Given the description of an element on the screen output the (x, y) to click on. 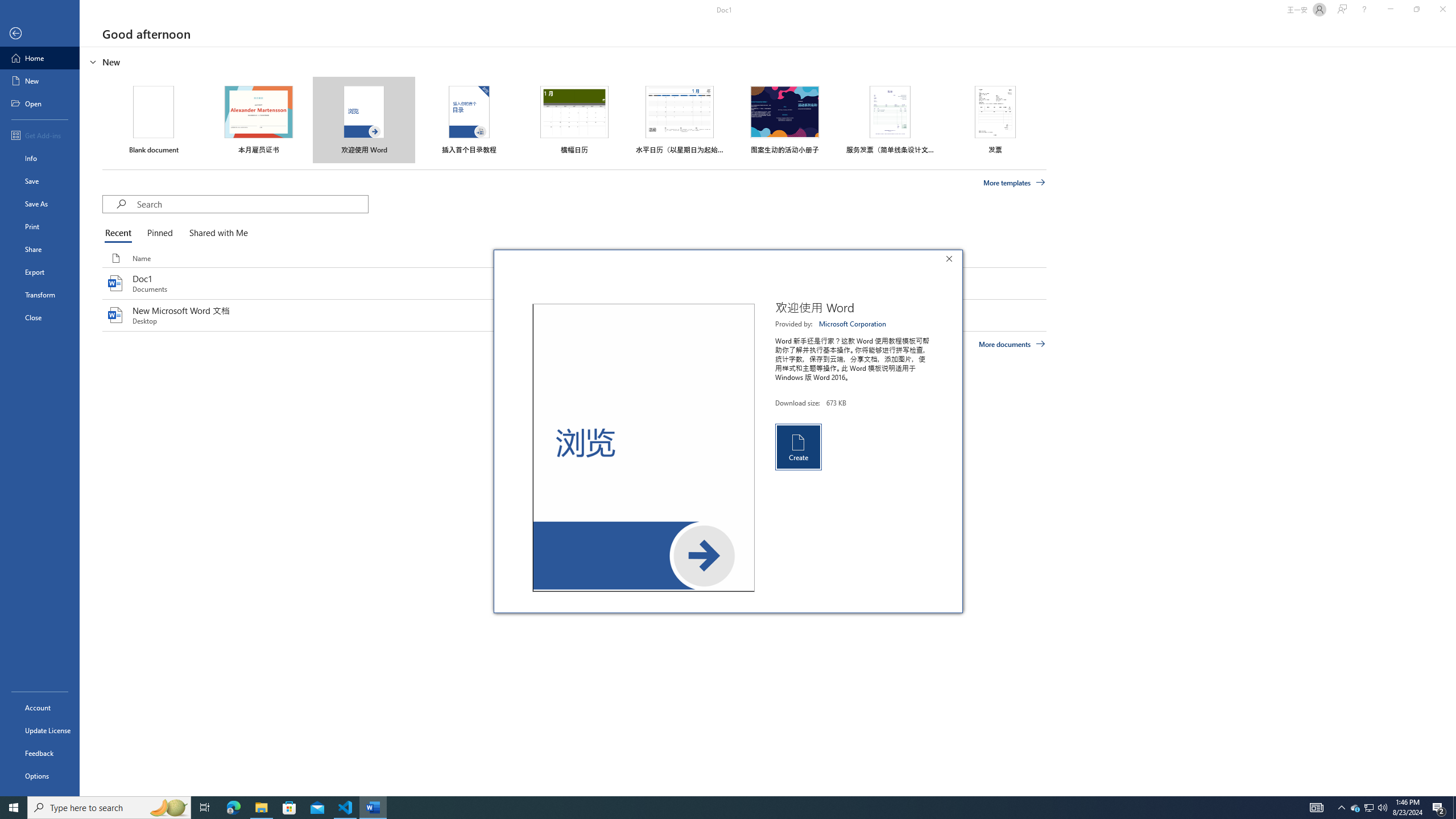
More documents (1011, 343)
Start (1368, 807)
User Promoted Notification Area (13, 807)
Create (1368, 807)
Microsoft Edge (797, 446)
Microsoft Corporation (233, 807)
Show desktop (853, 323)
Get Add-ins (1454, 807)
Action Center, 2 new notifications (40, 134)
